Given the description of an element on the screen output the (x, y) to click on. 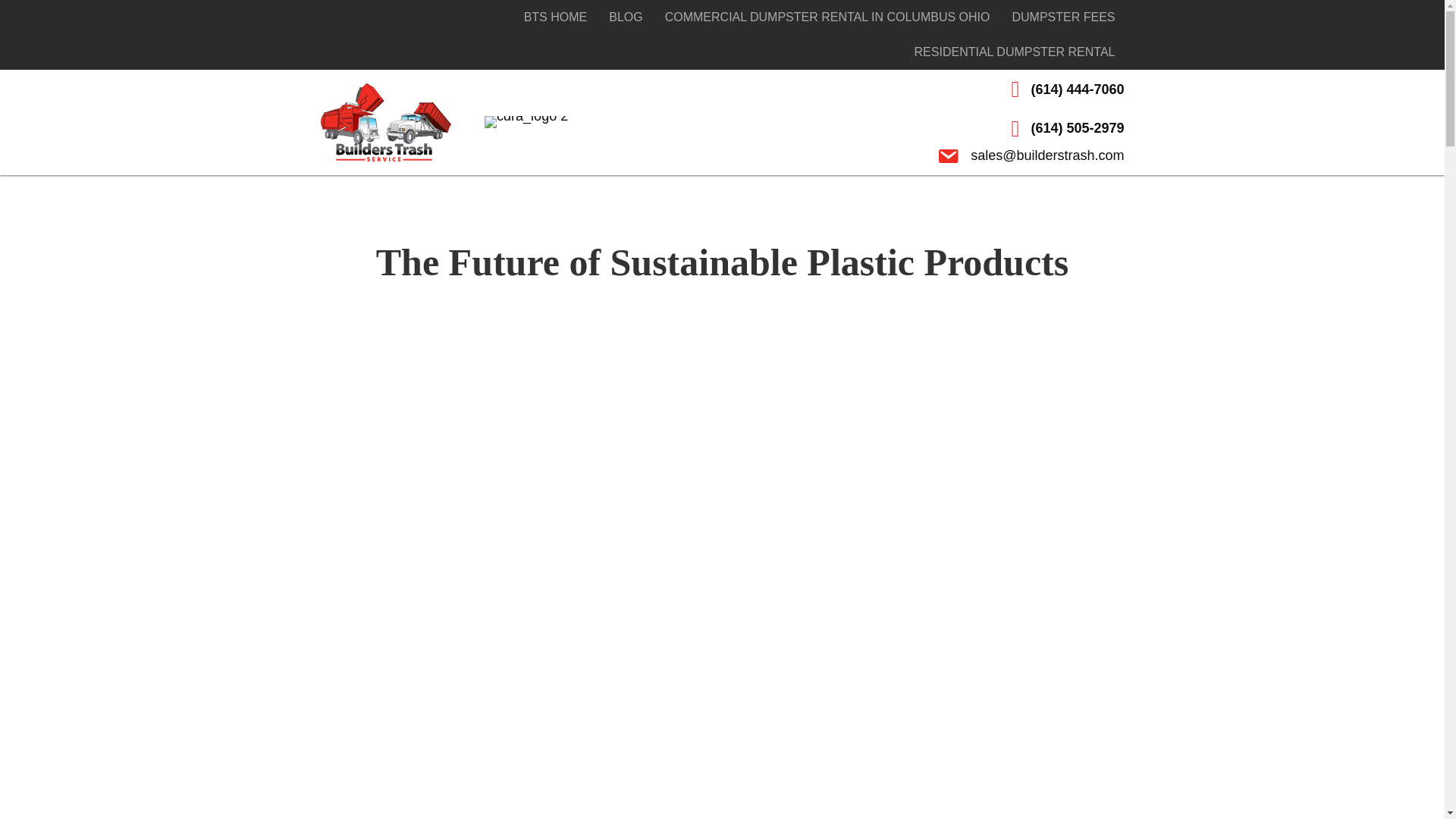
RESIDENTIAL DUMPSTER RENTAL (1014, 52)
COMMERCIAL DUMPSTER RENTAL IN COLUMBUS OHIO (827, 17)
BTS HOME (555, 17)
DUMPSTER FEES (1063, 17)
BLOG (624, 17)
